Given the description of an element on the screen output the (x, y) to click on. 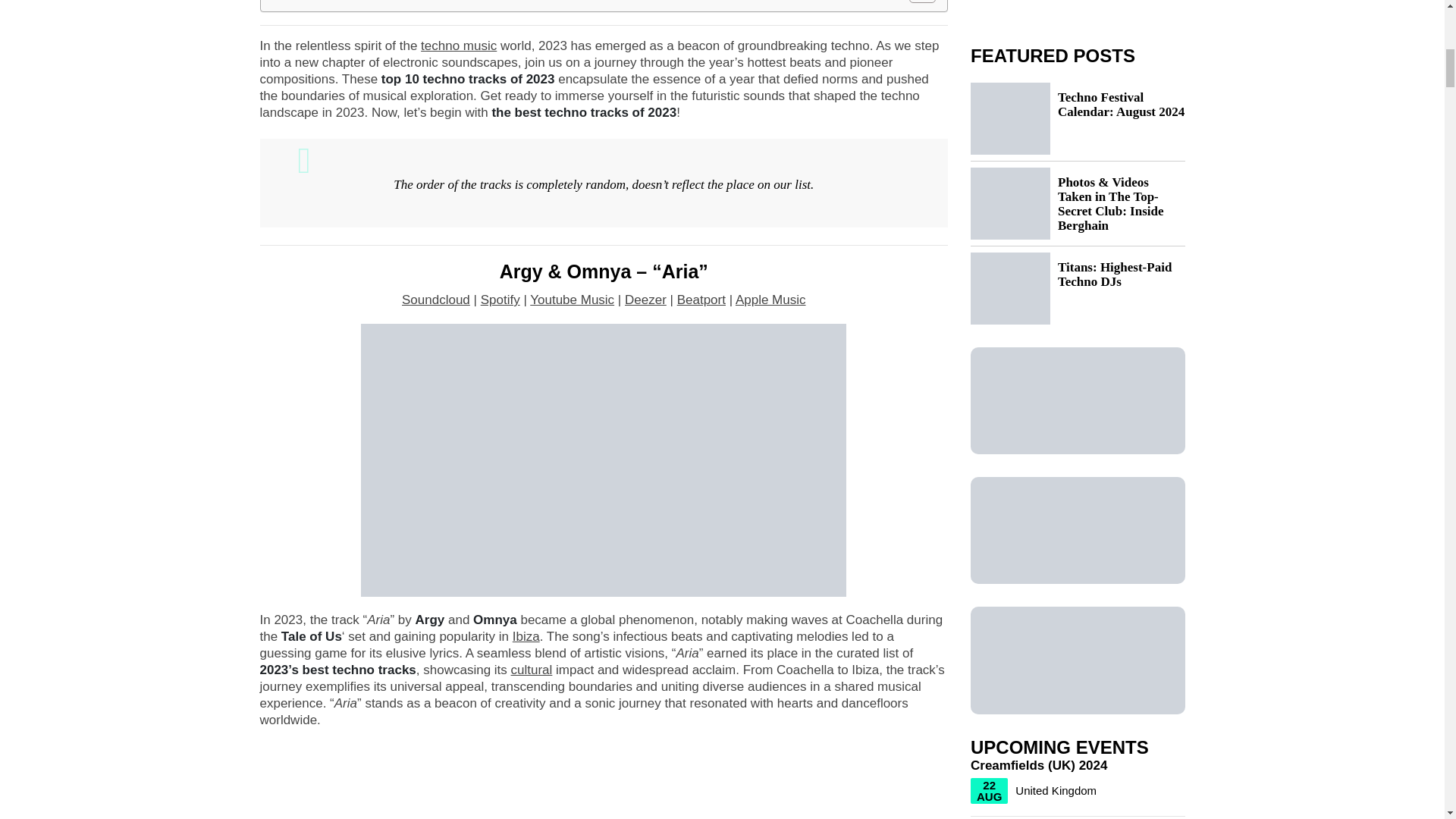
techno music (458, 44)
Ibiza (526, 636)
Soundcloud (435, 299)
Deezer (645, 299)
Apple Music (770, 299)
Spotify (499, 299)
Youtube Music (571, 299)
Top 10 Techno Tracks of 2023 1 (603, 460)
Beatport (701, 299)
